Given the description of an element on the screen output the (x, y) to click on. 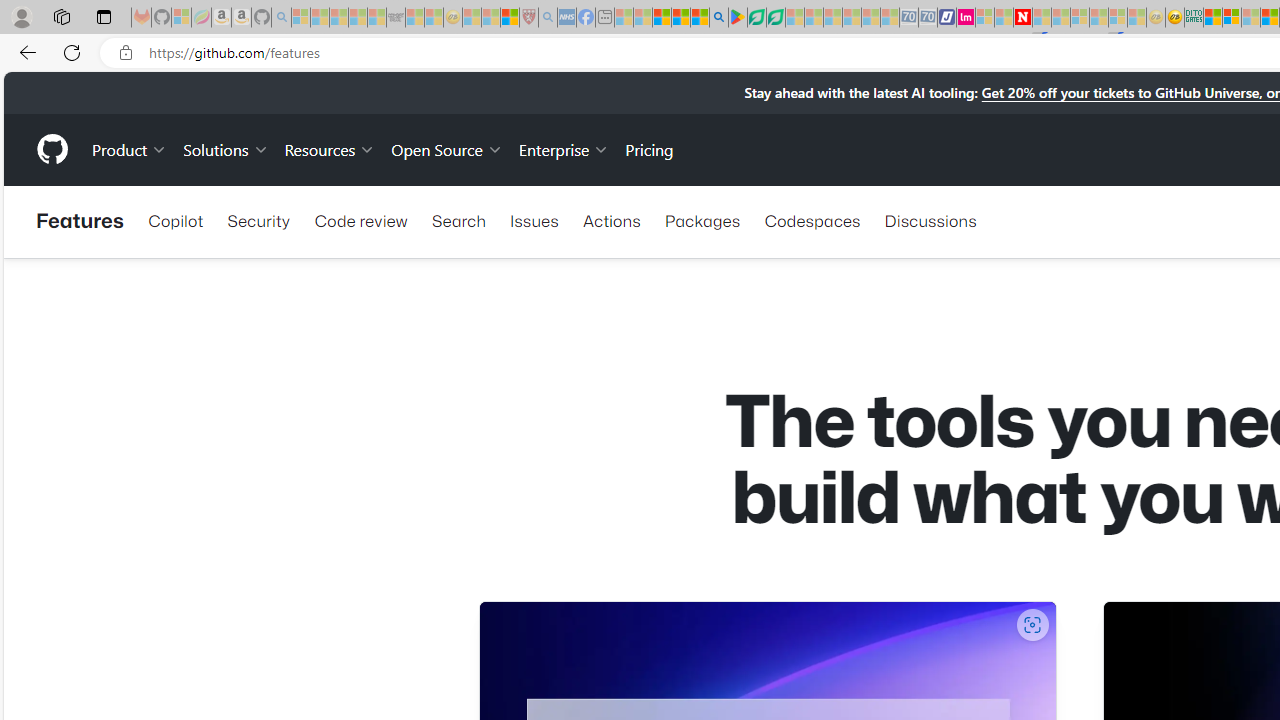
Product (130, 148)
Features (80, 221)
Actions (611, 220)
